Given the description of an element on the screen output the (x, y) to click on. 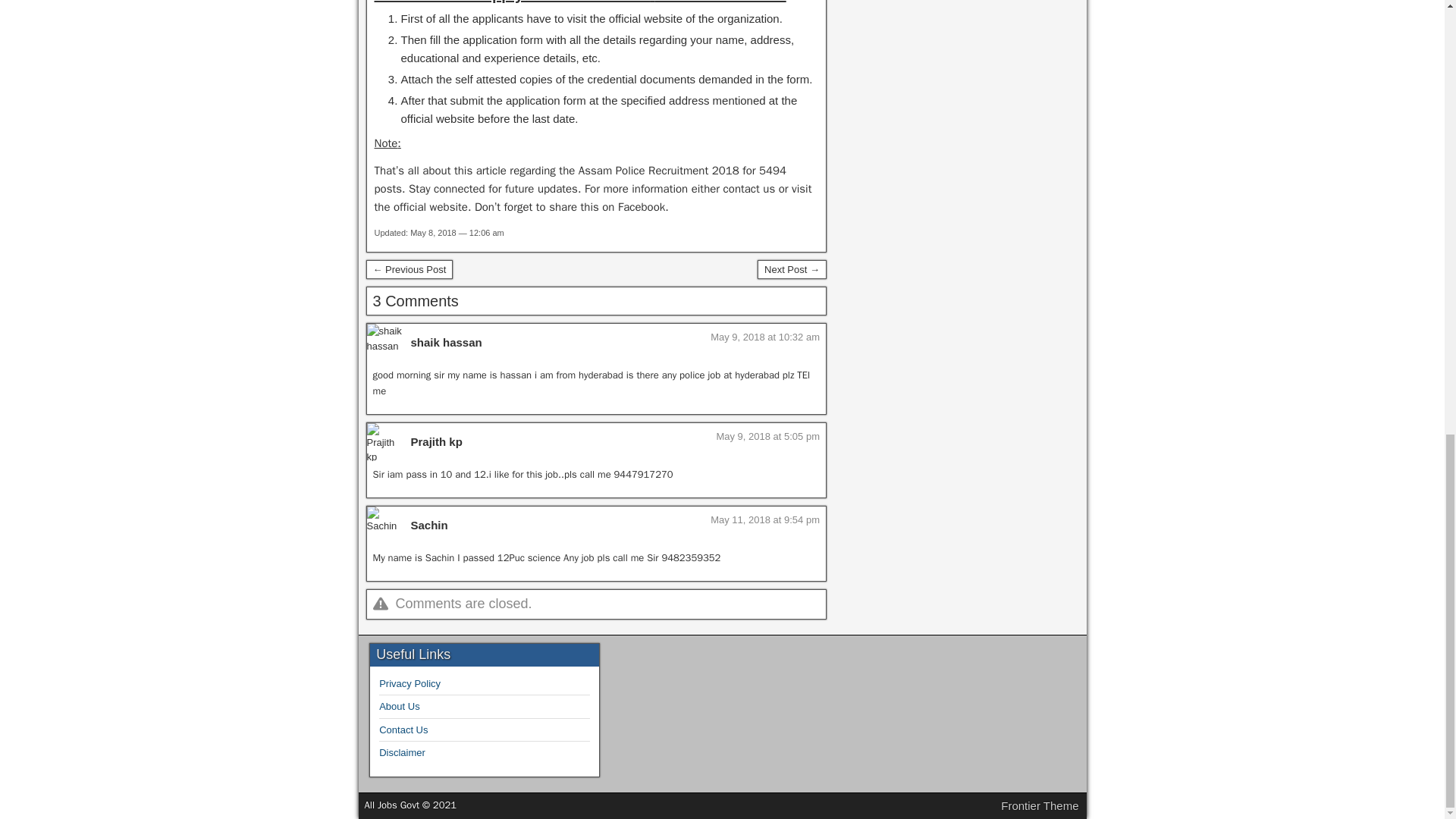
Privacy Policy (409, 683)
Contact Us (403, 729)
About Us (398, 706)
May 9, 2018 at 10:32 am (764, 337)
Disclaimer (401, 752)
Frontier Theme (1039, 805)
May 11, 2018 at 9:54 pm (764, 519)
Indian Navy Recruitment 2018 For 95 Fireman Posts (408, 270)
May 9, 2018 at 5:05 pm (767, 436)
